Given the description of an element on the screen output the (x, y) to click on. 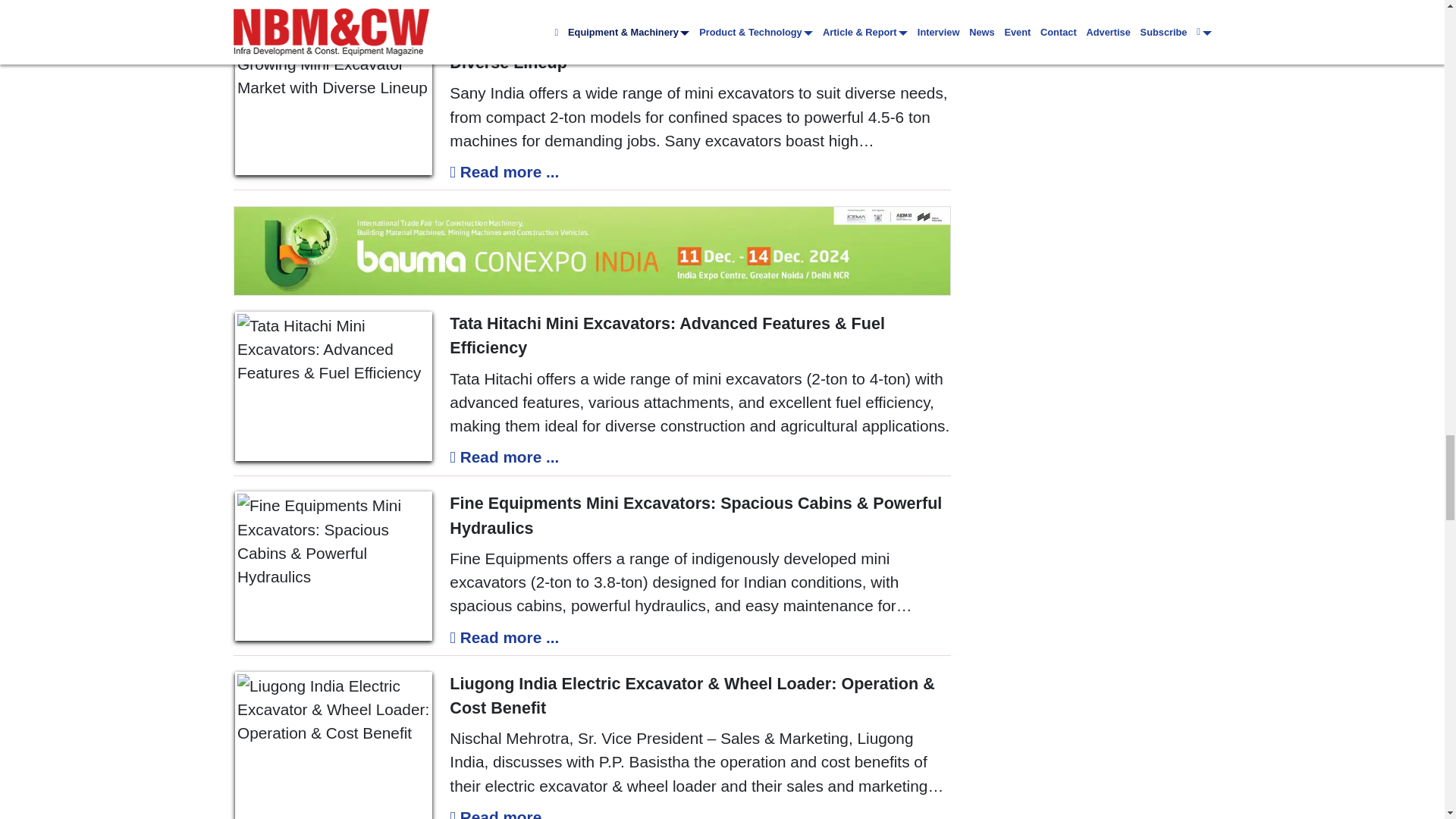
bauma Conexpo India 11 - 14 Dec 2024 (591, 250)
